Given the description of an element on the screen output the (x, y) to click on. 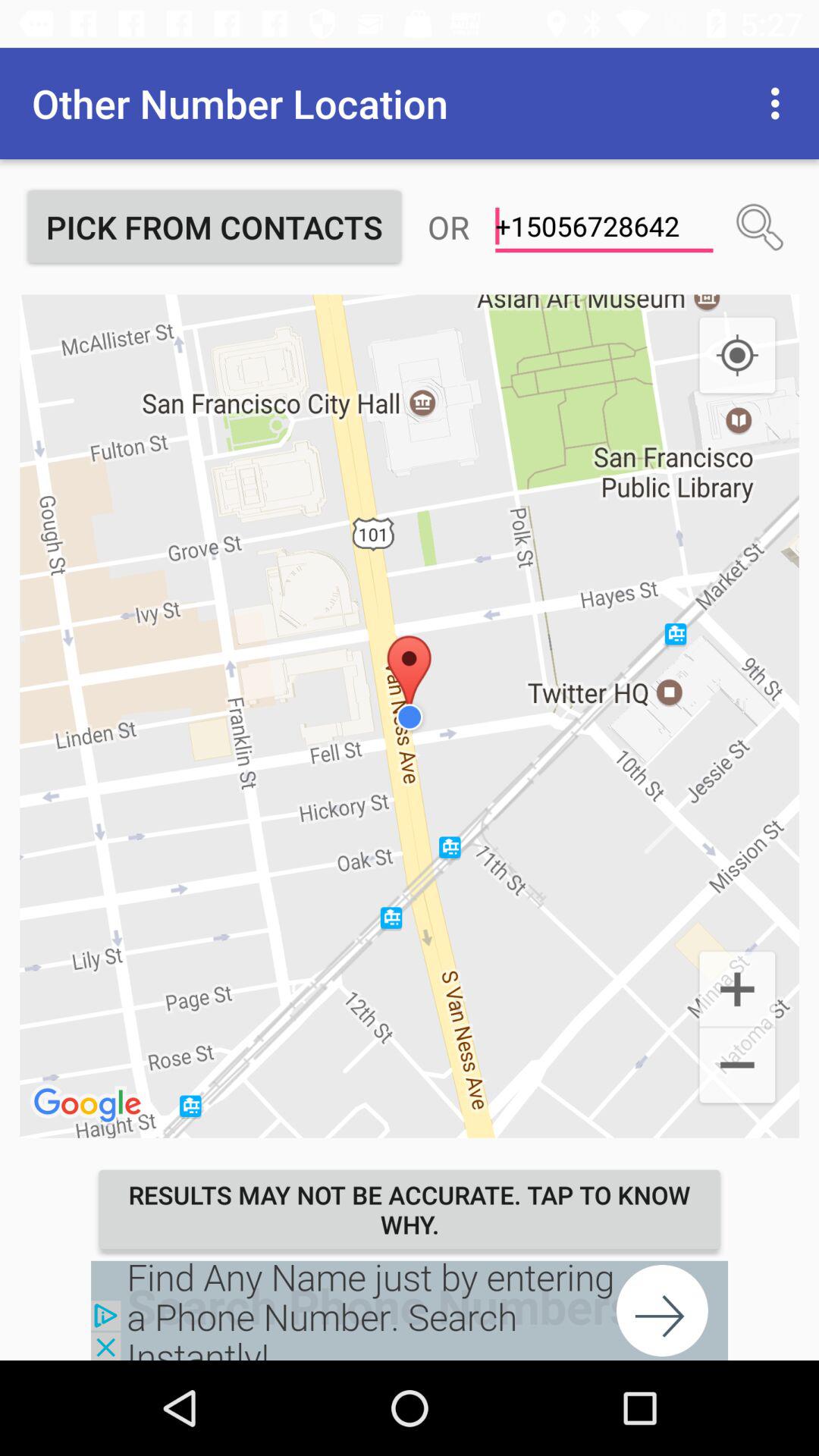
see advertisement (409, 1310)
